Given the description of an element on the screen output the (x, y) to click on. 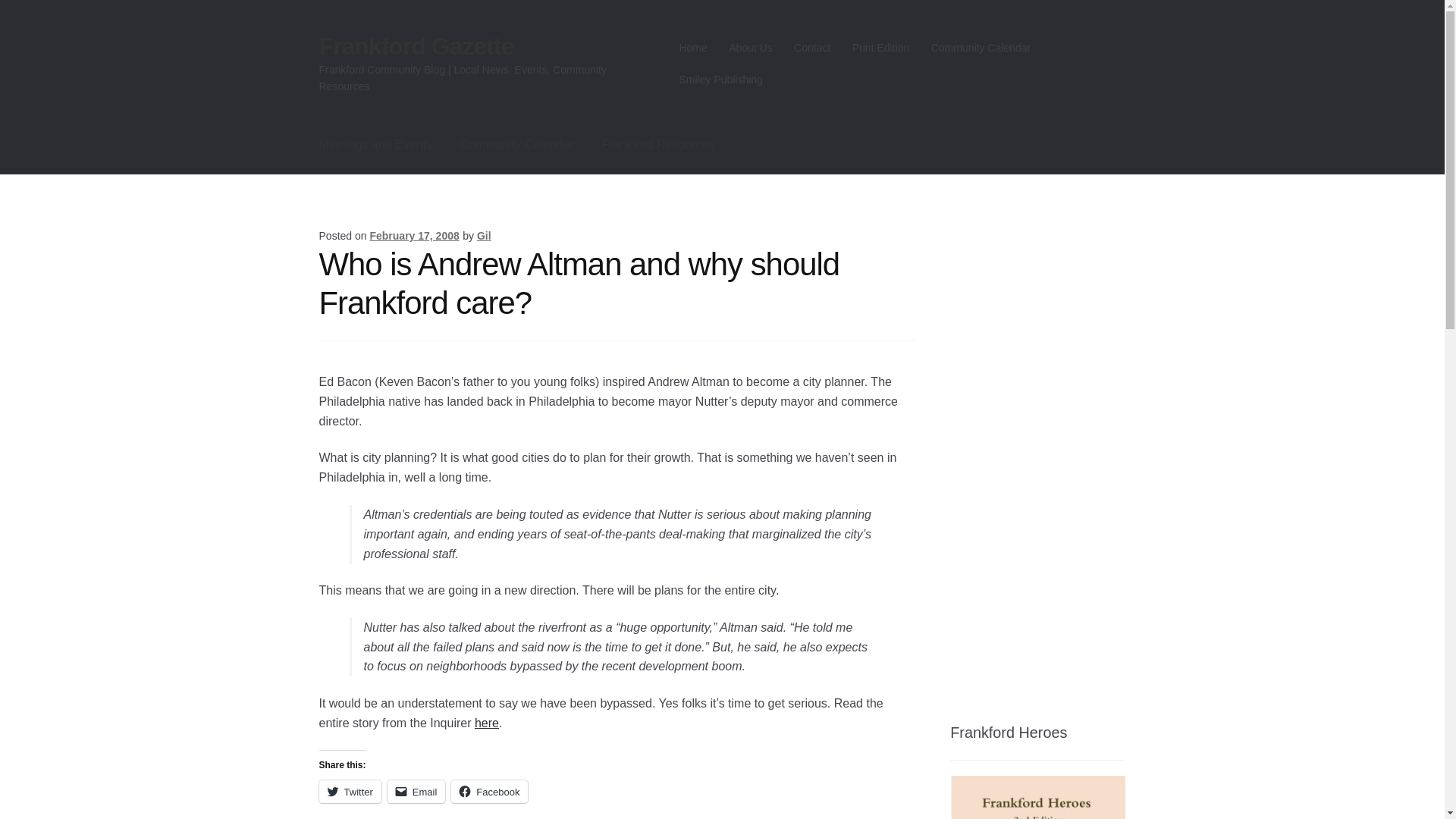
Email (416, 791)
Community Calendar (515, 144)
Home (692, 47)
Frankford Resources (657, 144)
Print Edition (880, 47)
Frankford Gazette (415, 45)
Click to email a link to a friend (416, 791)
Click to share on Twitter (349, 791)
Contact (812, 47)
Gil (484, 235)
here (486, 722)
Twitter (349, 791)
Click to share on Facebook (489, 791)
About Us (750, 47)
